Given the description of an element on the screen output the (x, y) to click on. 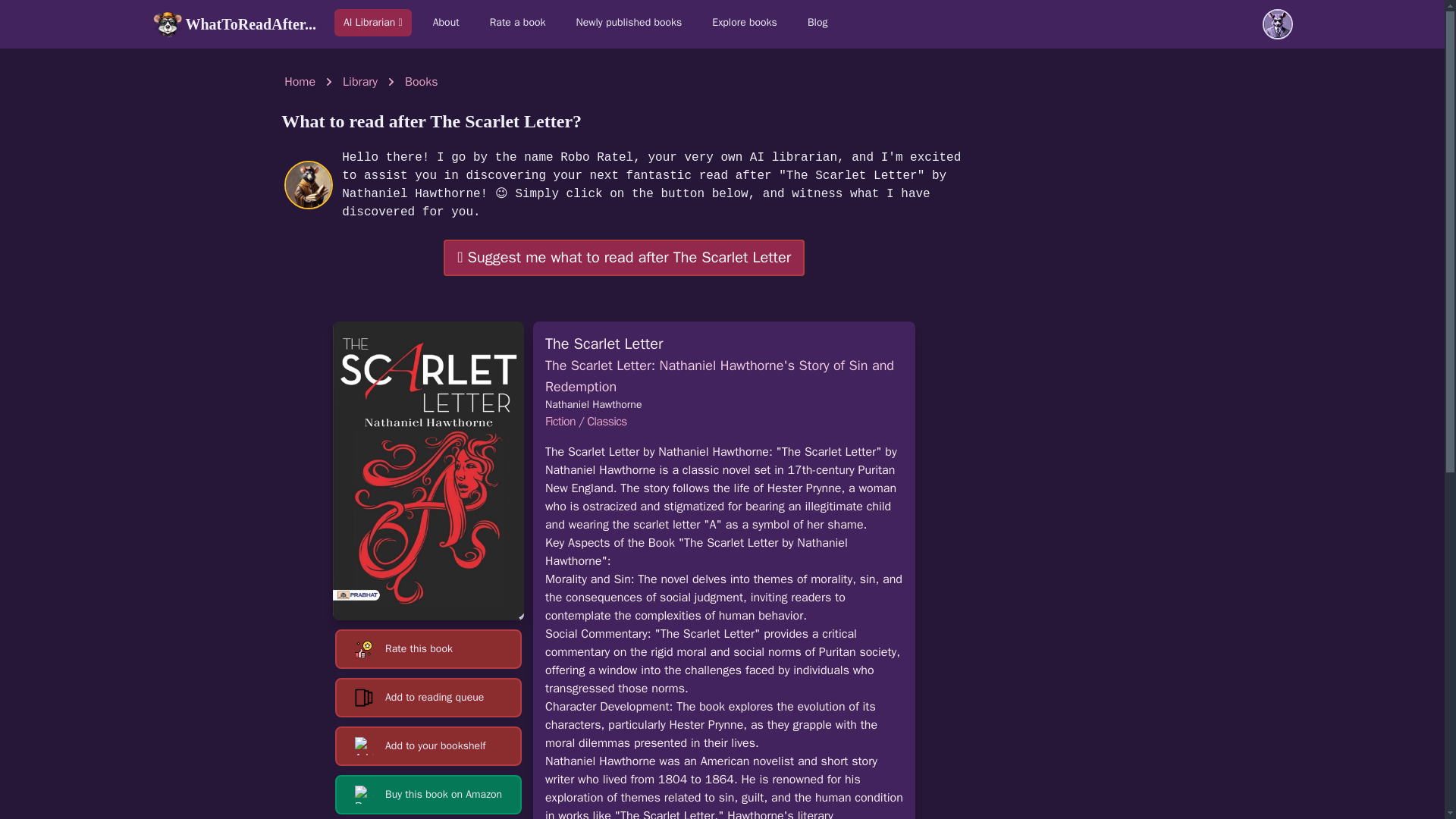
Buy this book on Amazon (427, 794)
Books (421, 81)
Books (421, 81)
Rate this book (427, 649)
AI book recommendations by What To Read After (373, 22)
Add this book to your bookshelf (427, 745)
The Scarlet Letter (428, 470)
Buy The Scarlet Letter on Amazon (427, 794)
Open user menu (1277, 24)
WhatToReadAfter... (233, 24)
About What To Read After (445, 22)
Explore books (744, 22)
Rate a The Scarlet Letter book (427, 649)
Explore books (744, 22)
Rate a book (517, 22)
